Given the description of an element on the screen output the (x, y) to click on. 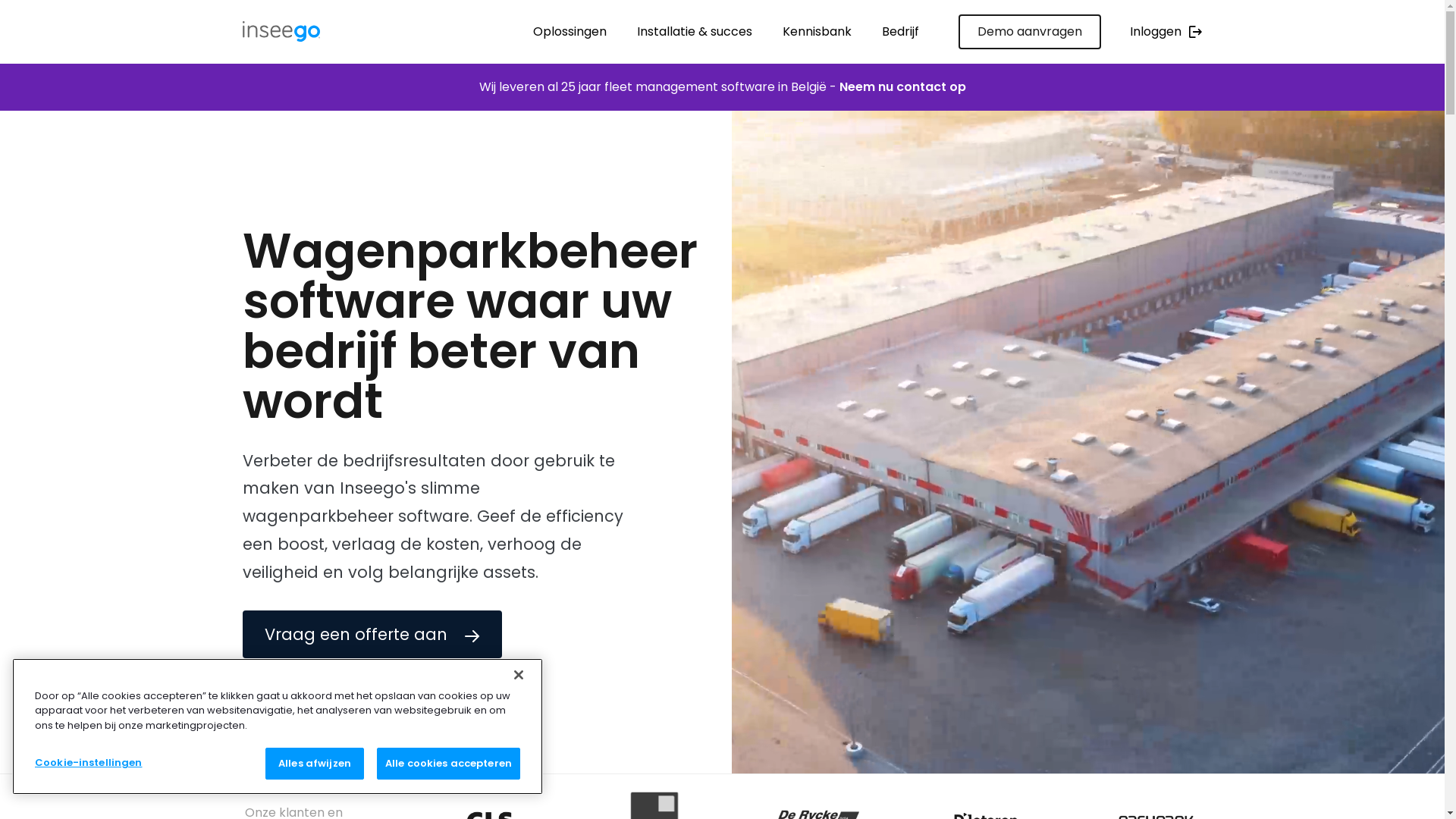
Demo aanvragen Element type: text (1029, 31)
Cookie-instellingen Element type: text (100, 762)
Alle cookies accepteren Element type: text (448, 763)
Alles afwijzen Element type: text (314, 763)
Installatie & succes Element type: text (694, 31)
Vraag een offerte aan Element type: text (372, 634)
Kennisbank Element type: text (816, 31)
Neem nu contact op Element type: text (901, 87)
